Given the description of an element on the screen output the (x, y) to click on. 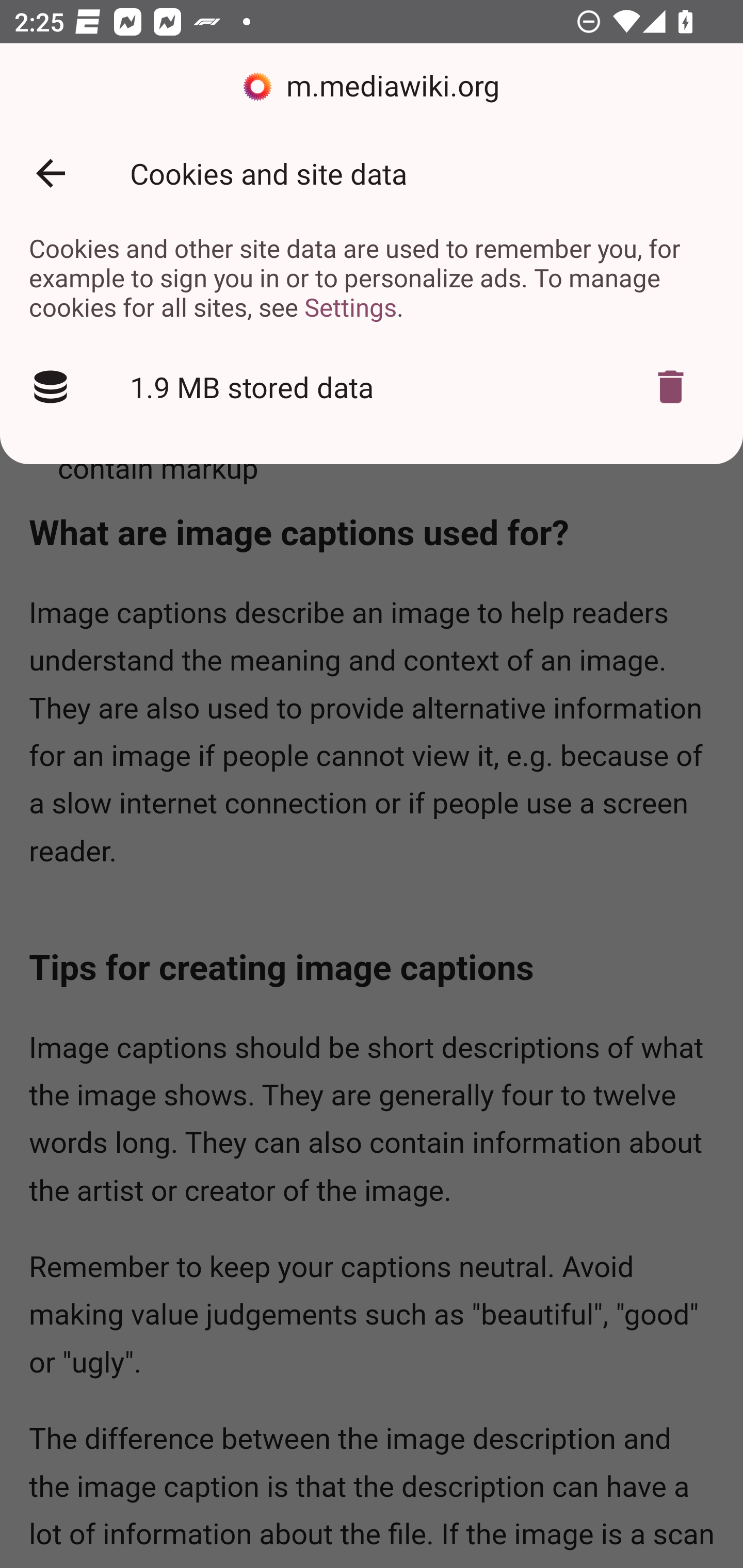
m.mediawiki.org (371, 86)
Back (50, 173)
1.9 MB stored data Delete cookies? (371, 386)
